Given the description of an element on the screen output the (x, y) to click on. 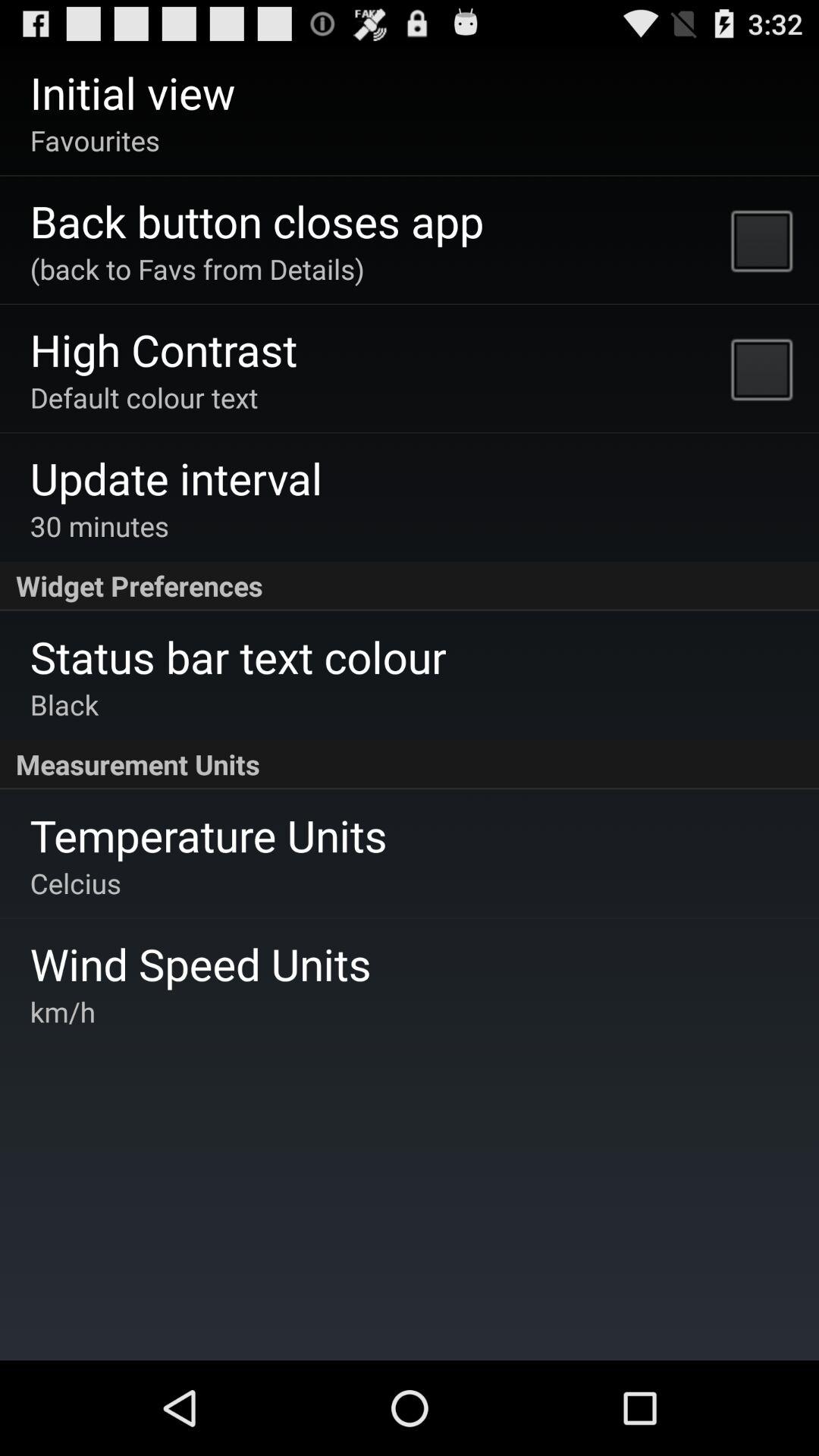
tap measurement units app (409, 764)
